Given the description of an element on the screen output the (x, y) to click on. 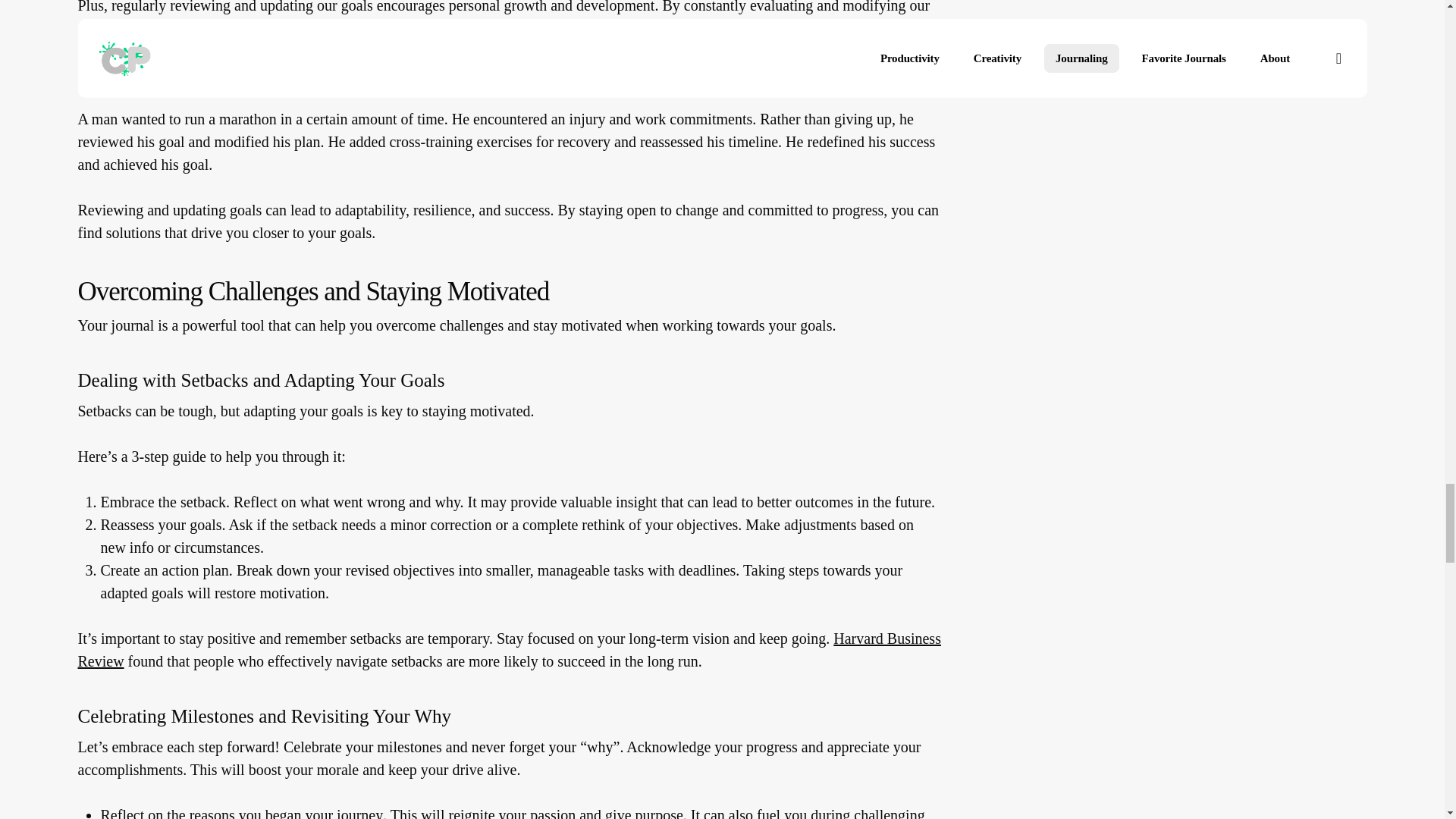
Harvard Business Review (508, 667)
